Given the description of an element on the screen output the (x, y) to click on. 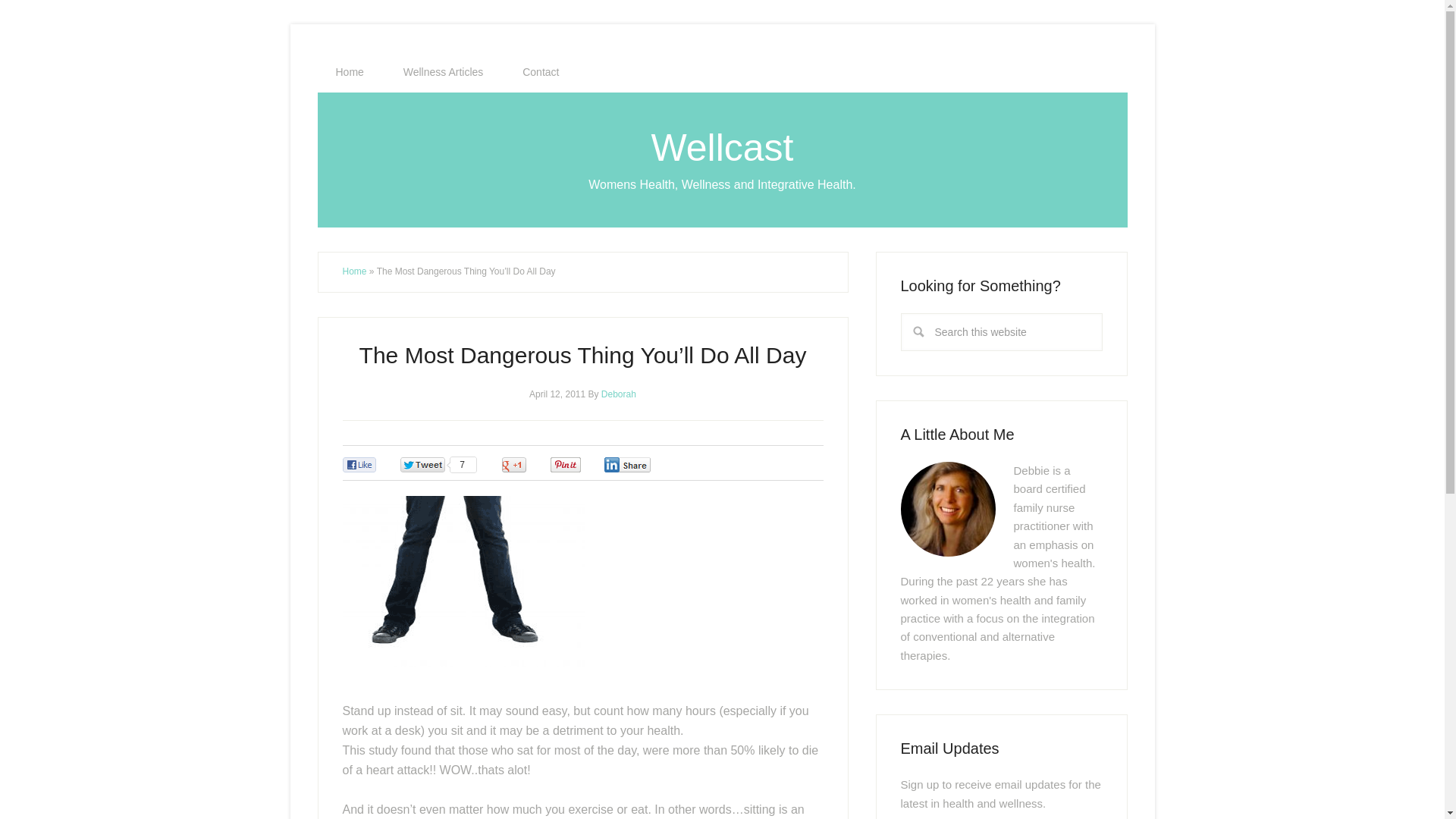
Contact (539, 71)
7 retweets so far (438, 465)
Wellness Articles (443, 71)
Wellcast (721, 147)
Deborah (618, 393)
7 (438, 465)
Home (354, 271)
Home (349, 71)
